Given the description of an element on the screen output the (x, y) to click on. 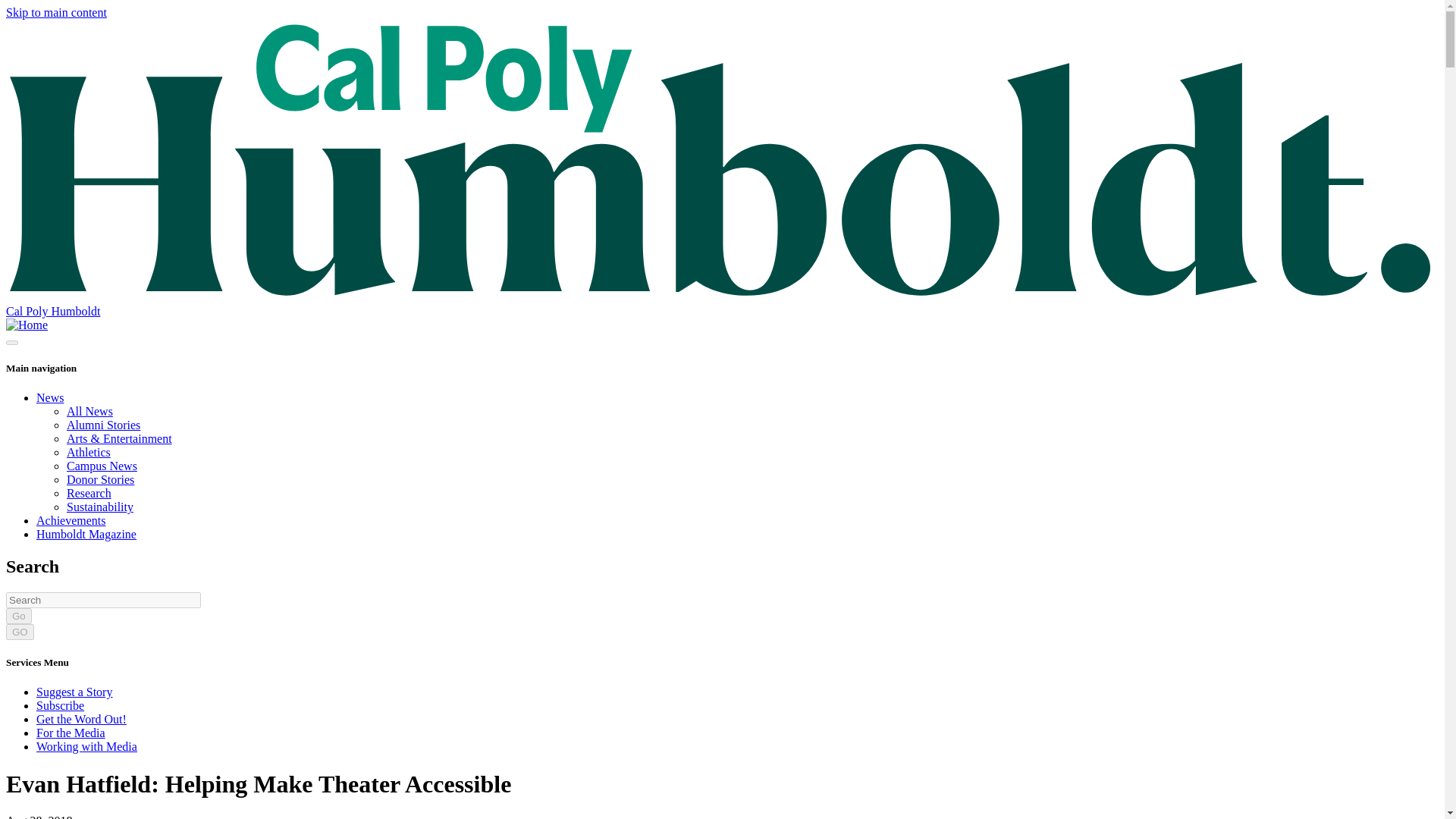
Achievements (71, 520)
Alumni Stories (102, 424)
Skip to main content (55, 11)
Go (18, 616)
For the Media (70, 732)
Humboldt Magazine (86, 533)
GO (19, 631)
Athletics (88, 451)
All News (89, 410)
News (50, 397)
